Given the description of an element on the screen output the (x, y) to click on. 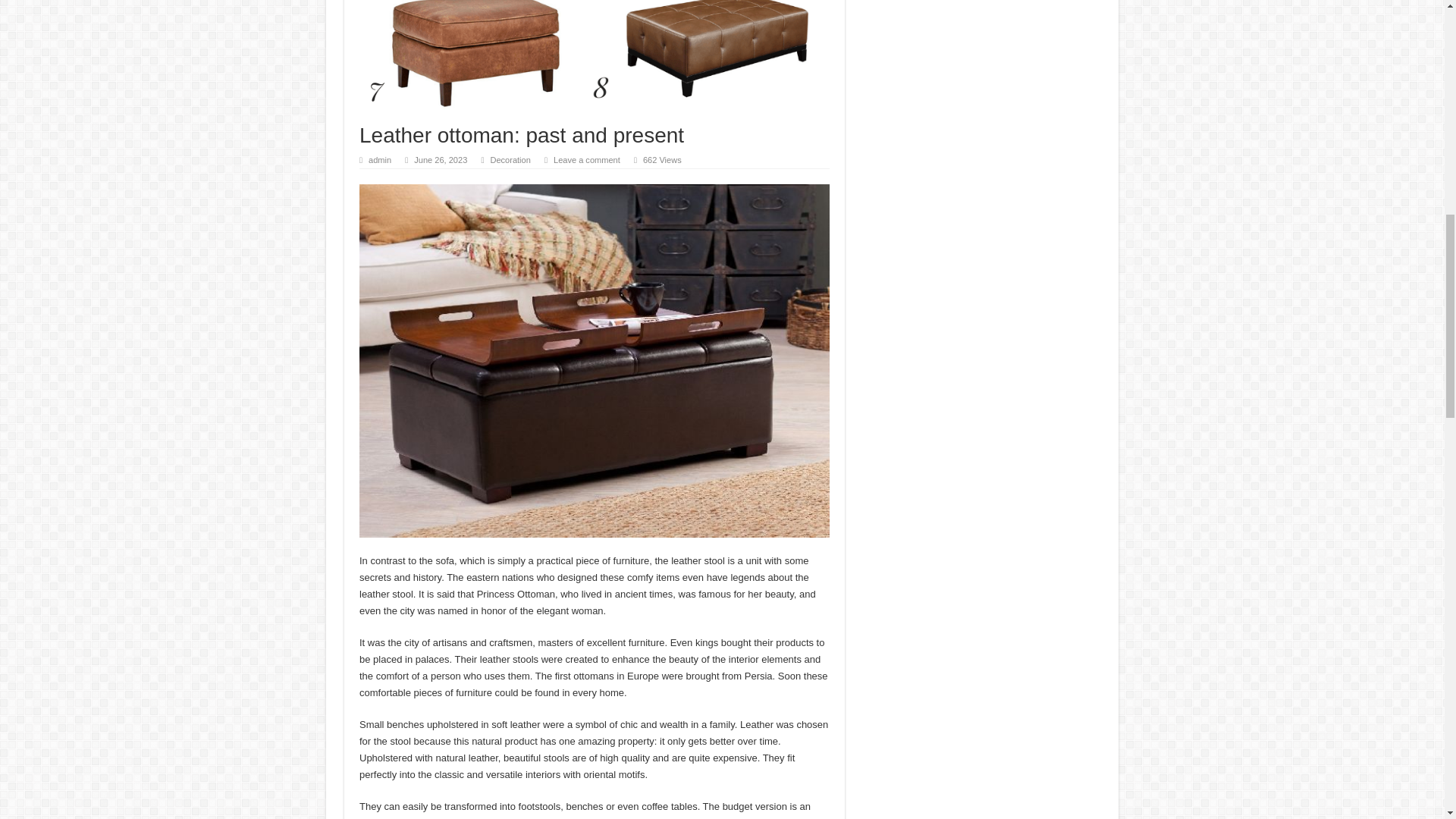
Leather ottoman: past and present (594, 56)
Leave a comment (586, 159)
admin (379, 159)
Decoration (509, 159)
